Given the description of an element on the screen output the (x, y) to click on. 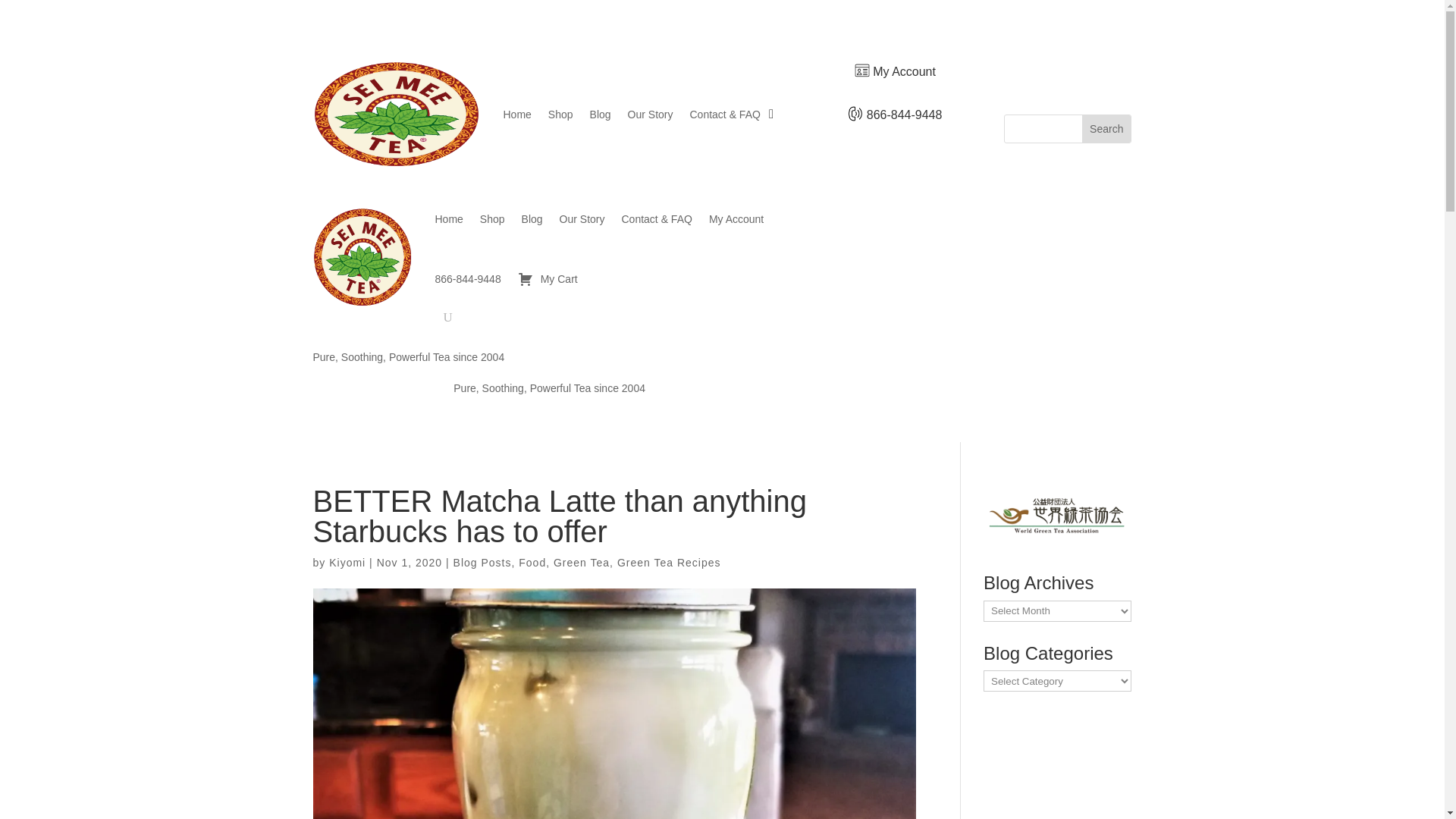
Green Tea (581, 562)
Follow on Facebook (1015, 73)
Kiyomi (347, 562)
My Account (735, 219)
Green Tea Recipes (668, 562)
Blog Posts (482, 562)
Posts by Kiyomi (347, 562)
Search (1106, 128)
866-844-9448 (467, 279)
Follow on Instagram (1045, 73)
